Given the description of an element on the screen output the (x, y) to click on. 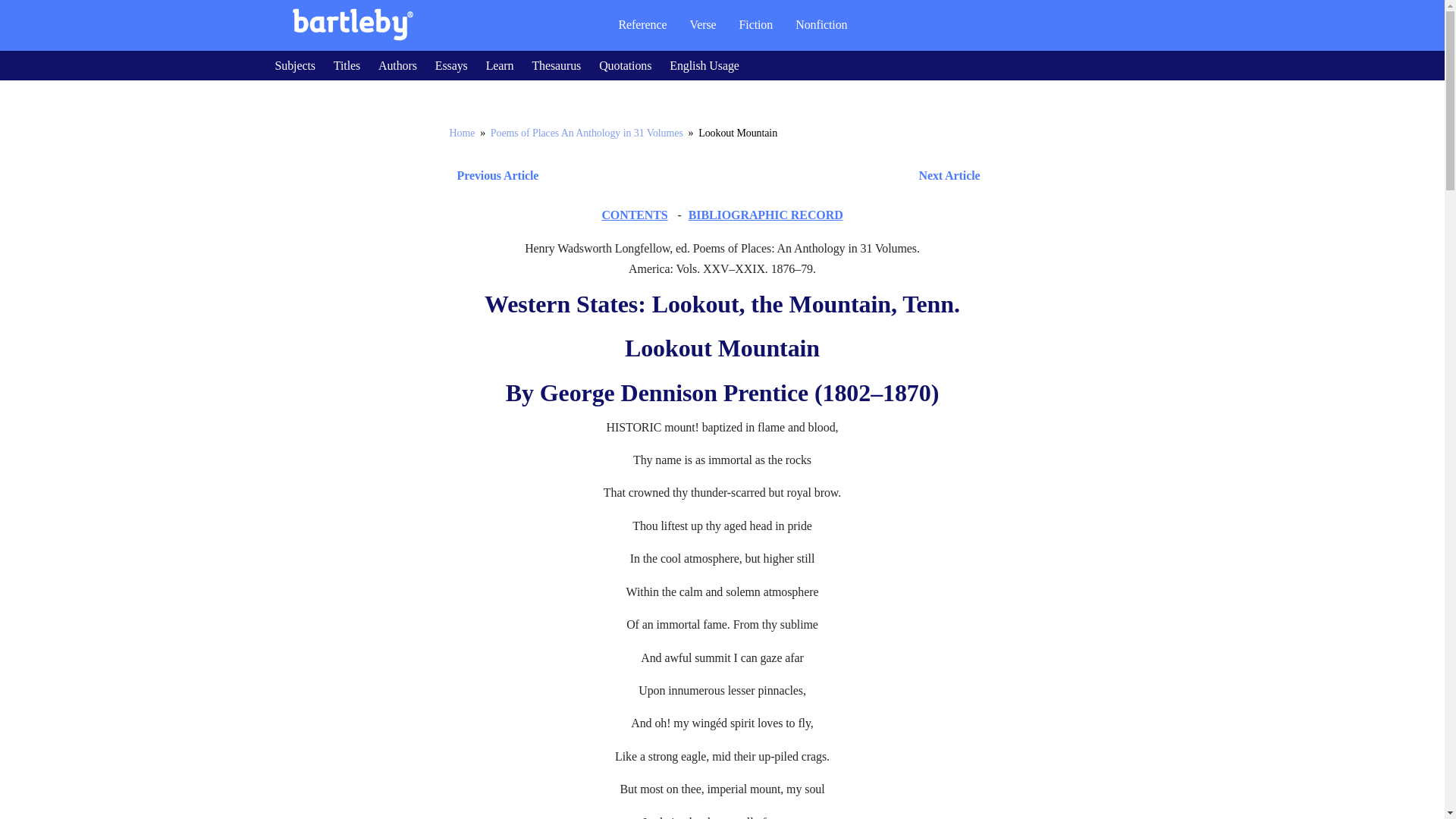
Next Article (766, 175)
CONTENTS (633, 214)
Reference (642, 24)
English Usage (704, 65)
Previous Article (493, 175)
Thesaurus (555, 65)
Authors (397, 65)
BIBLIOGRAPHIC RECORD (765, 214)
Poems of Places An Anthology in 31 Volumes (586, 132)
Titles (346, 65)
Subjects (294, 65)
Essays (451, 65)
Verse (702, 24)
Nonfiction (821, 24)
Learn (499, 65)
